Given the description of an element on the screen output the (x, y) to click on. 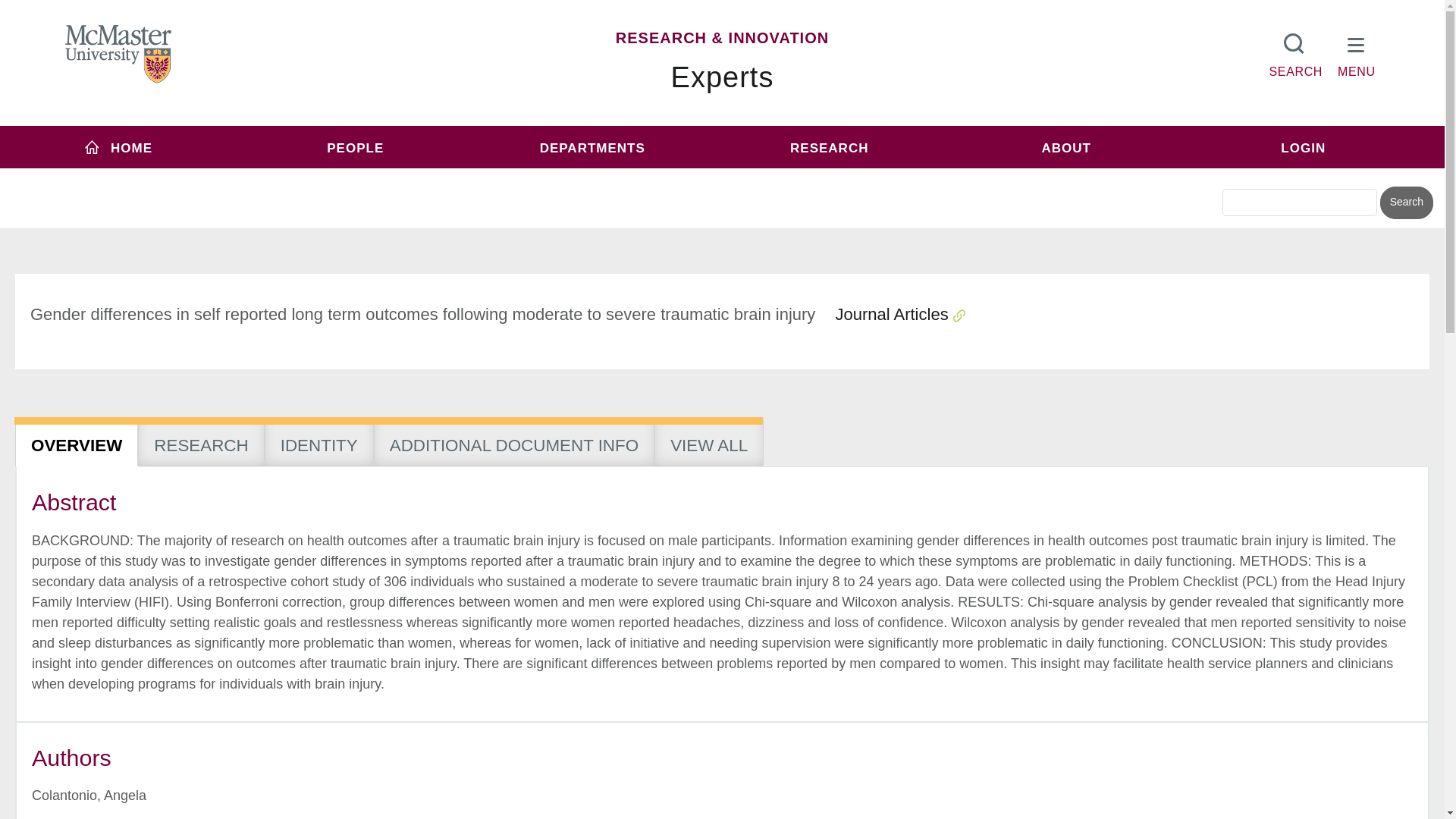
HOME (118, 147)
Research menu item (829, 147)
MCMASTER LOGO (118, 54)
McMaster Univeristy Logo (118, 54)
RESEARCH (829, 147)
inurl:experts.mcmaster.ca (601, 175)
MENU (1356, 51)
Experts (722, 77)
PEOPLE (355, 147)
About menu item (1066, 147)
